Given the description of an element on the screen output the (x, y) to click on. 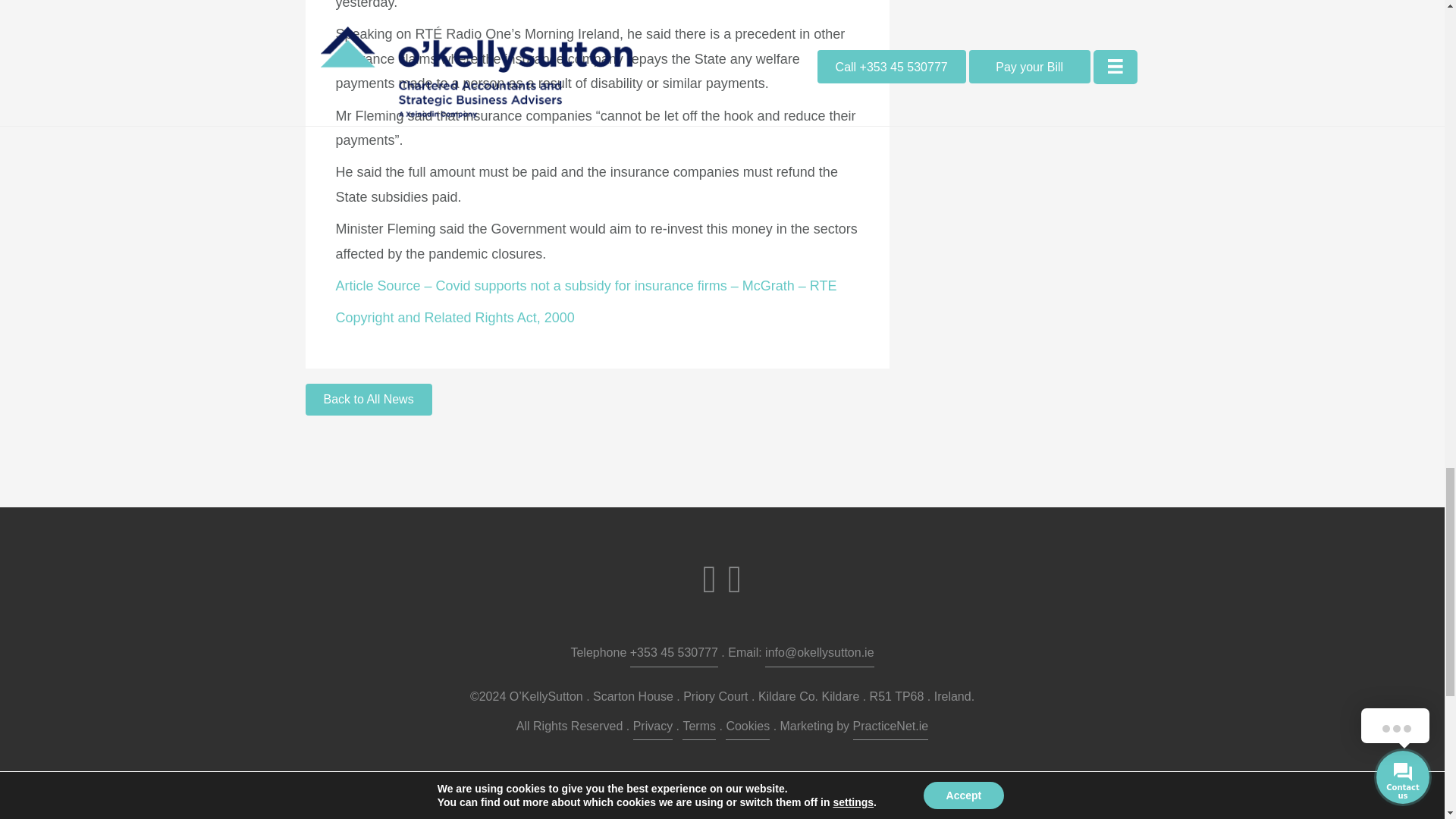
Copyright and Related Rights Act, 2000 (453, 317)
Back to All News (367, 399)
Terms (699, 728)
Cookies (747, 728)
Privacy (652, 728)
PracticeNet.ie (890, 728)
